Given the description of an element on the screen output the (x, y) to click on. 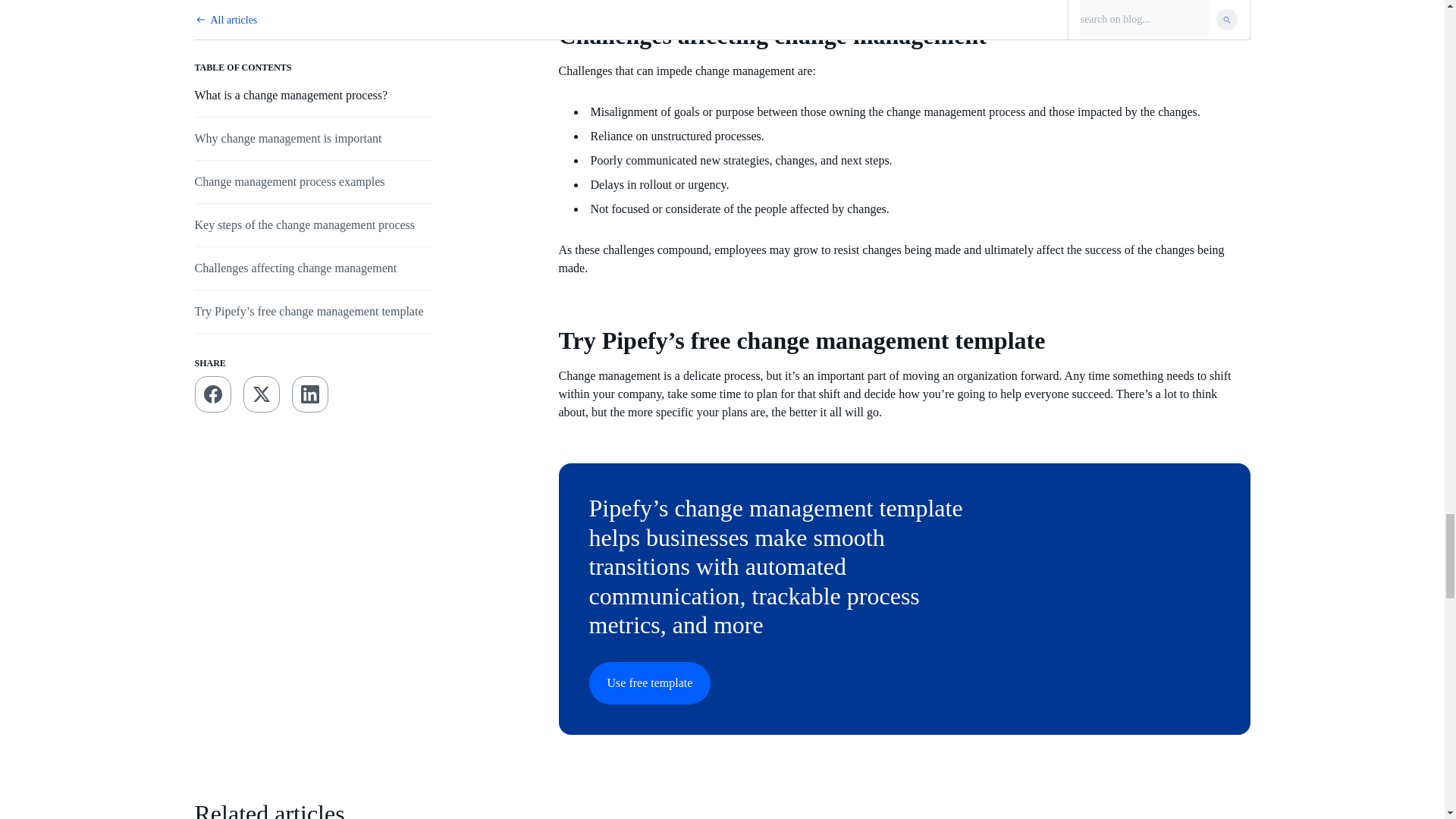
Use free template (649, 682)
